Given the description of an element on the screen output the (x, y) to click on. 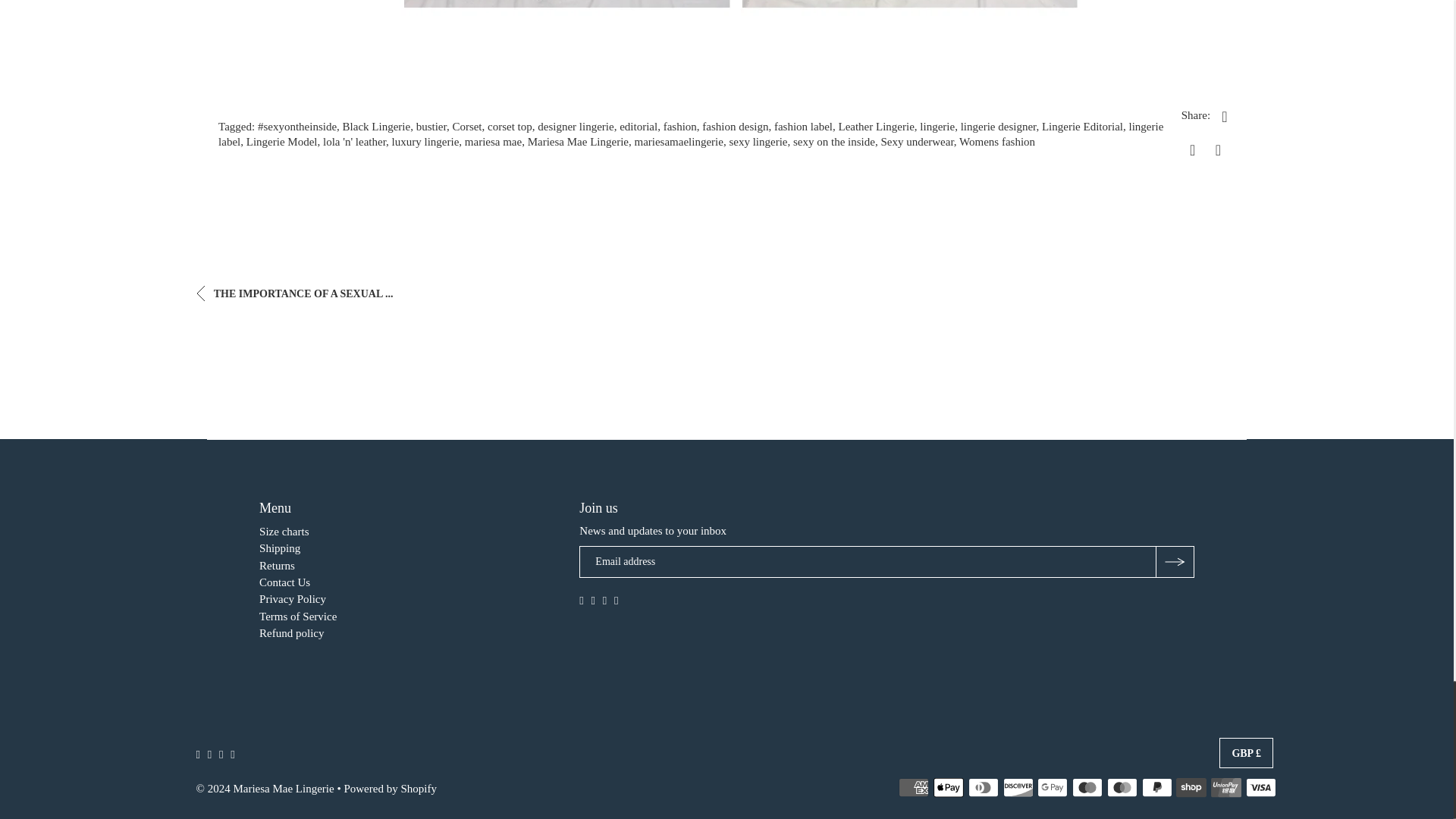
Visa (1261, 787)
Diners Club (983, 787)
Google Pay (1051, 787)
Union Pay (1226, 787)
Shop Pay (1191, 787)
Maestro (1086, 787)
Share on Pinterest (1218, 148)
Apple Pay (948, 787)
American Express (913, 787)
Discover (1018, 787)
